Given the description of an element on the screen output the (x, y) to click on. 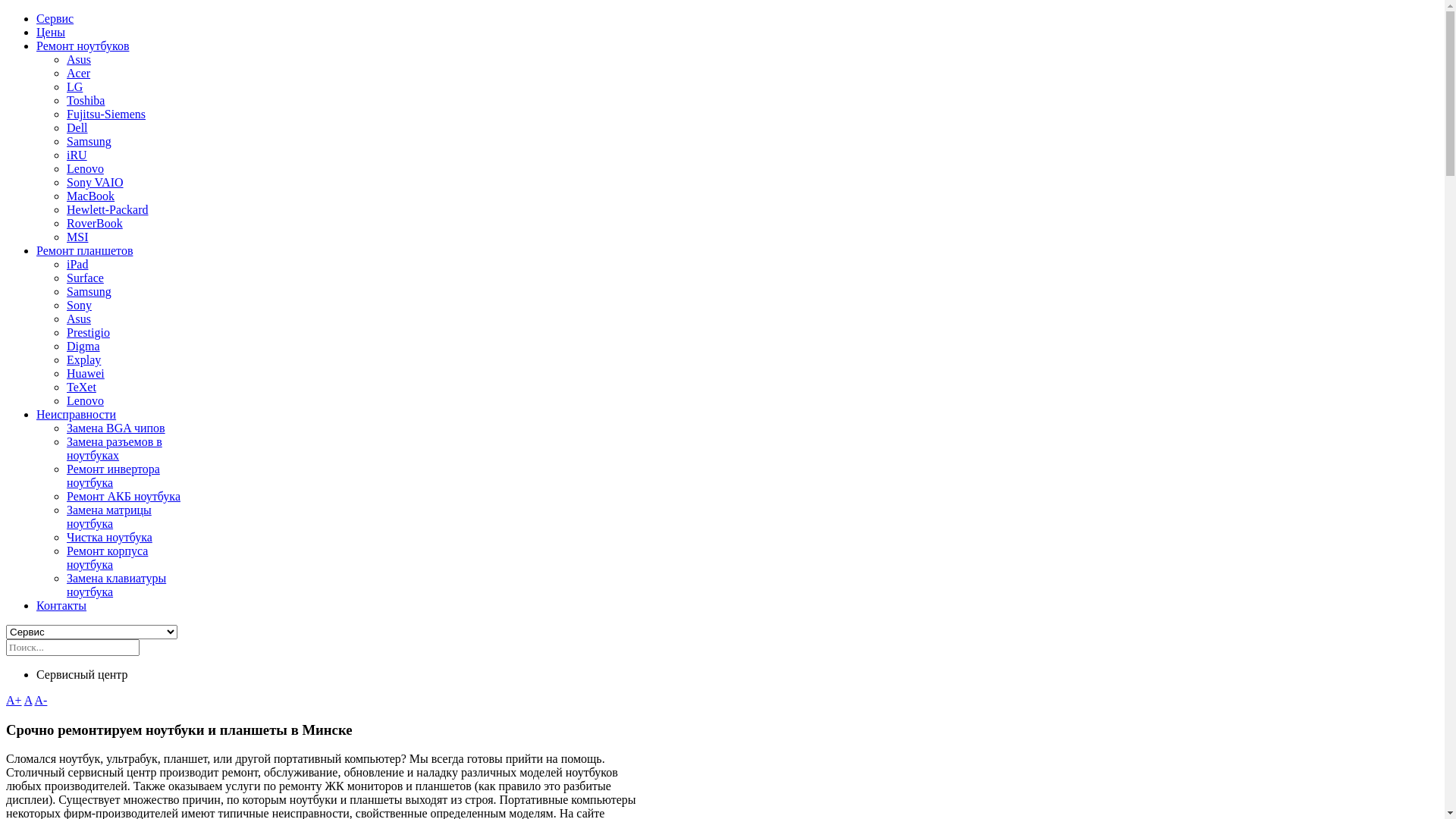
Sony Element type: text (78, 304)
A+ Element type: text (13, 699)
Toshiba Element type: text (85, 100)
Asus Element type: text (78, 59)
TeXet Element type: text (81, 386)
Sony VAIO Element type: text (94, 181)
MSI Element type: text (76, 236)
Samsung Element type: text (88, 291)
MacBook Element type: text (90, 195)
Huawei Element type: text (85, 373)
Explay Element type: text (83, 359)
Asus Element type: text (78, 318)
Dell Element type: text (76, 127)
Hewlett-Packard Element type: text (107, 209)
Acer Element type: text (78, 72)
Lenovo Element type: text (84, 400)
Prestigio Element type: text (87, 332)
Samsung Element type: text (88, 140)
A Element type: text (28, 699)
LG Element type: text (74, 86)
iPad Element type: text (76, 263)
Lenovo Element type: text (84, 168)
RoverBook Element type: text (94, 222)
Fujitsu-Siemens Element type: text (105, 113)
Surface Element type: text (84, 277)
A- Element type: text (40, 699)
Digma Element type: text (83, 345)
iRU Element type: text (76, 154)
